Given the description of an element on the screen output the (x, y) to click on. 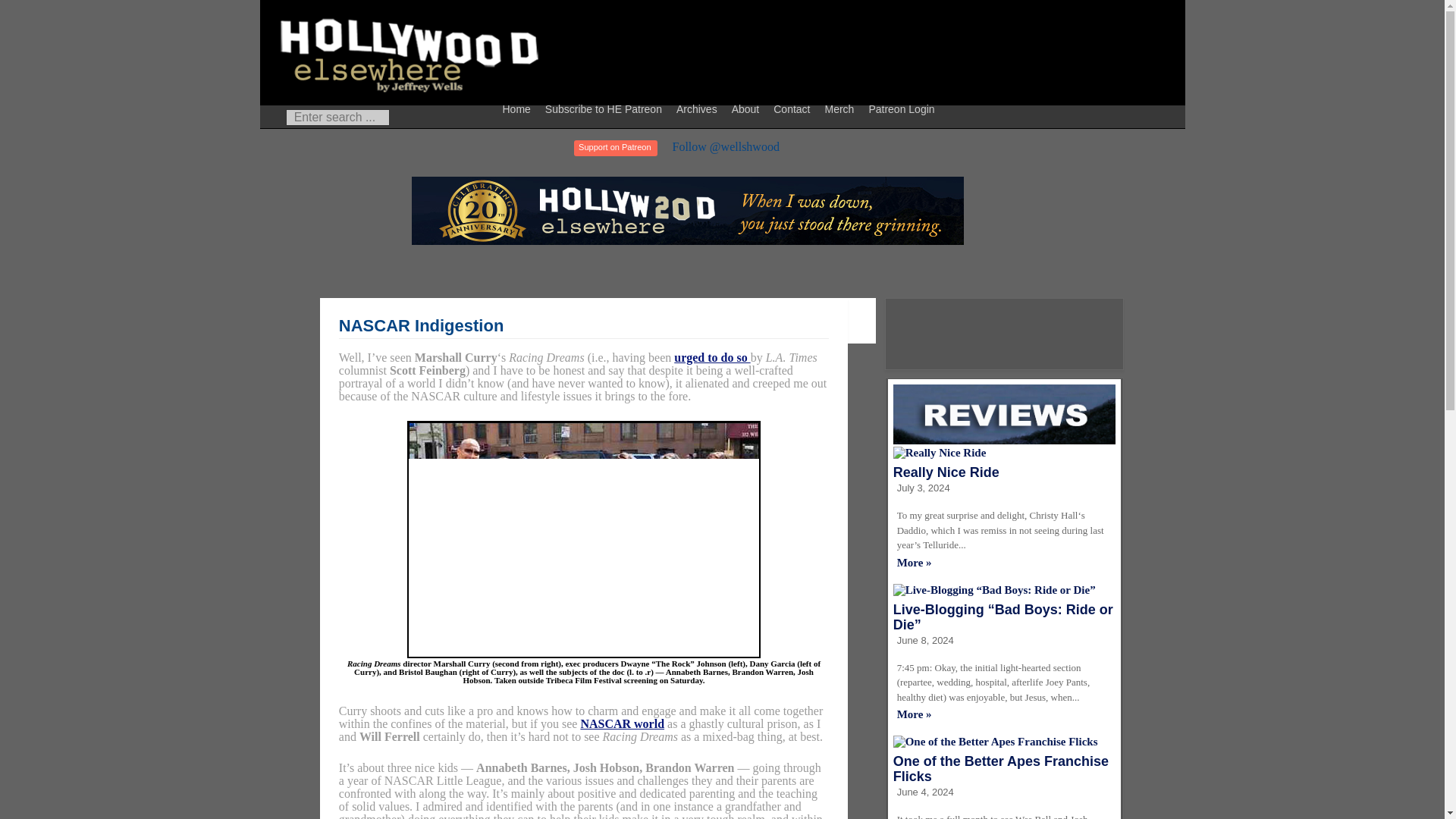
Home (519, 108)
Archives (698, 108)
Subscribe to HE Patreon (605, 108)
NASCAR Indigestion (421, 325)
urged to do so (711, 357)
Contact (793, 108)
Permanent Link to NASCAR Indigestion (421, 325)
Support on Patreon (614, 148)
About (747, 108)
Merch (841, 108)
NASCAR world (621, 723)
